Given the description of an element on the screen output the (x, y) to click on. 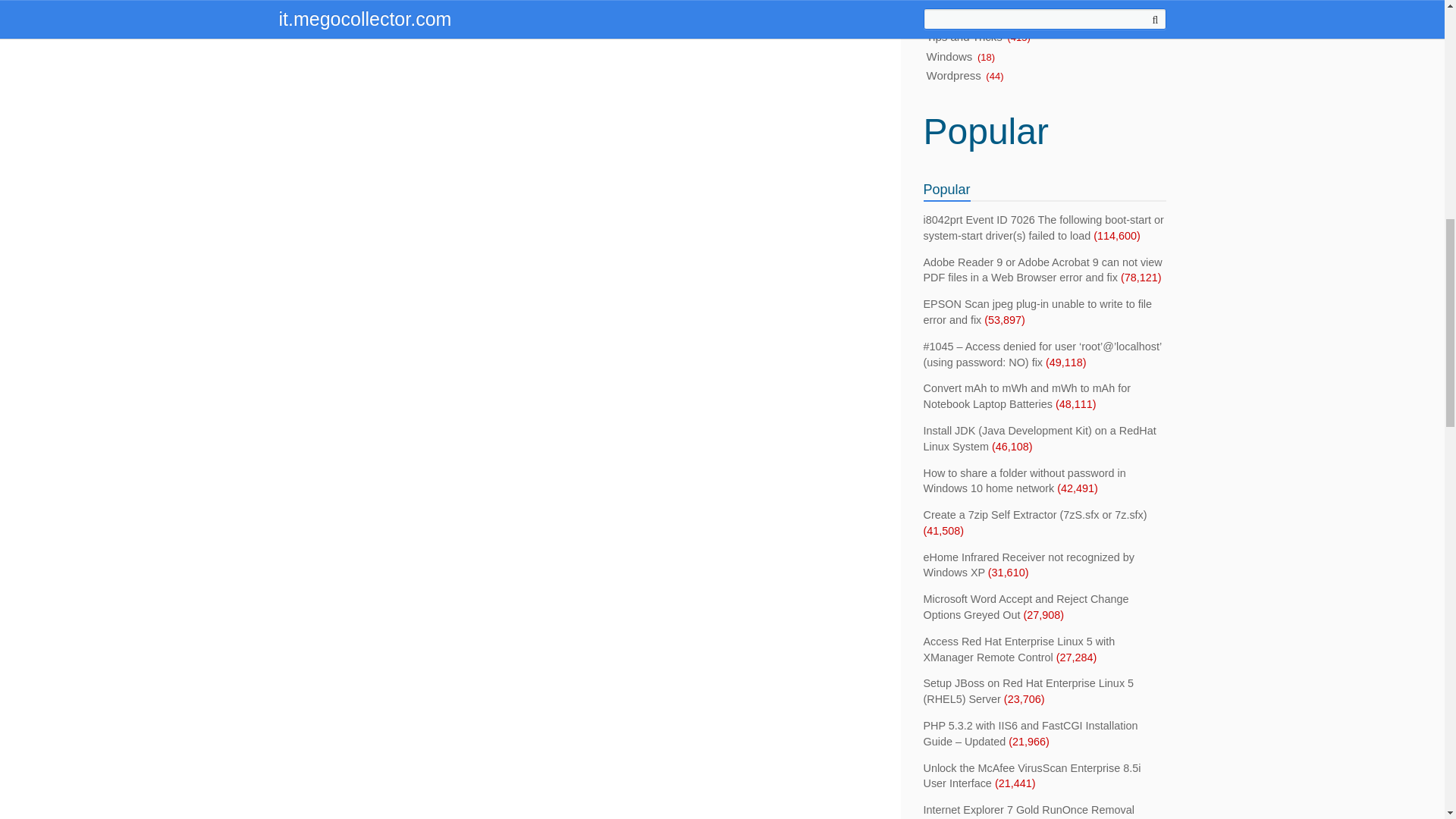
Windows (949, 57)
Unlock the McAfee VirusScan Enterprise 8.5i User Interface (1032, 776)
Microsoft Word Accept and Reject Change Options Greyed Out (1026, 606)
Internet Explorer 7 Gold RunOnce Removal (1028, 809)
Software Packaging (976, 17)
Tips and Tricks (964, 37)
